Given the description of an element on the screen output the (x, y) to click on. 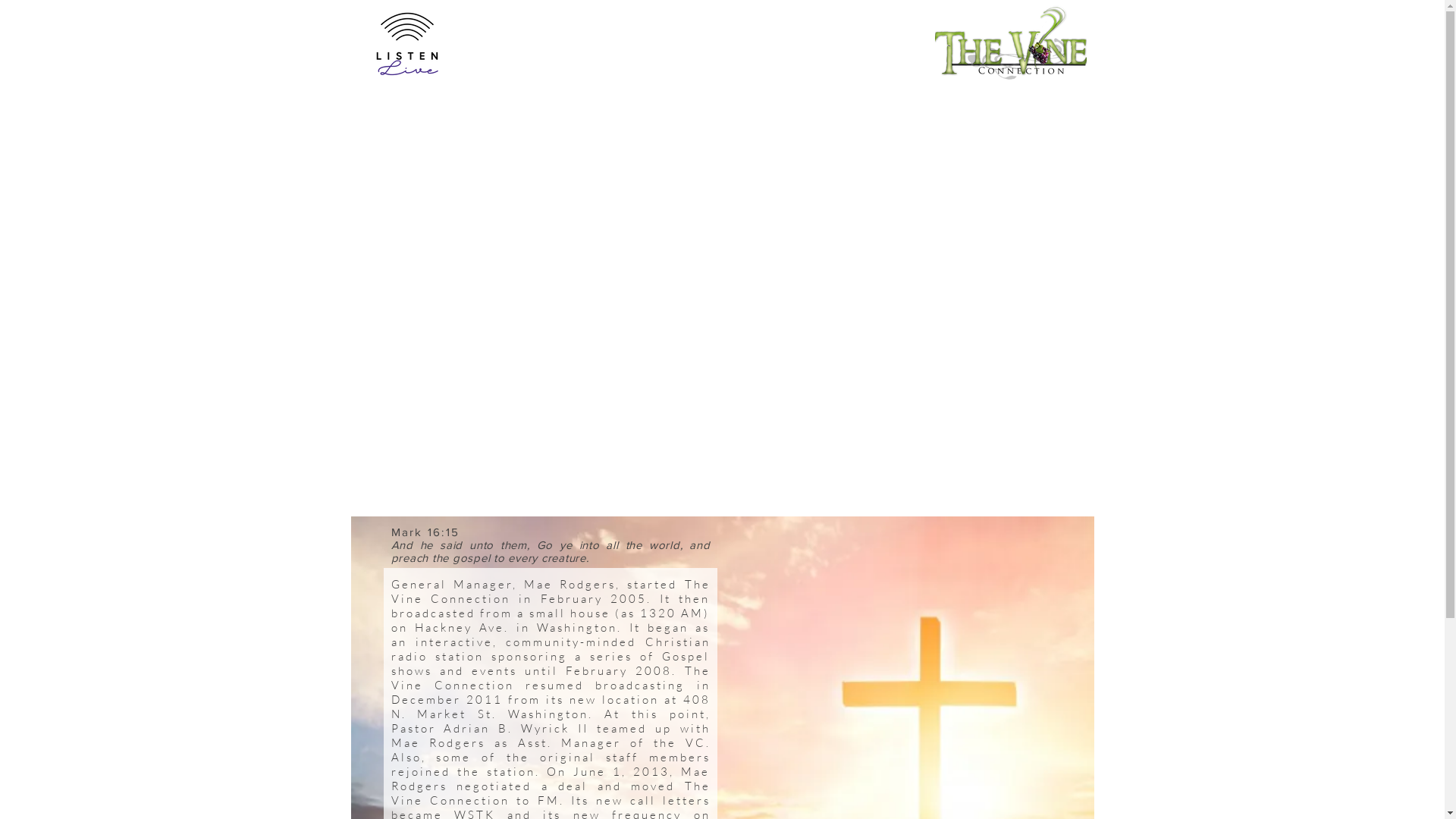
External YouTube Element type: hover (721, 300)
